Given the description of an element on the screen output the (x, y) to click on. 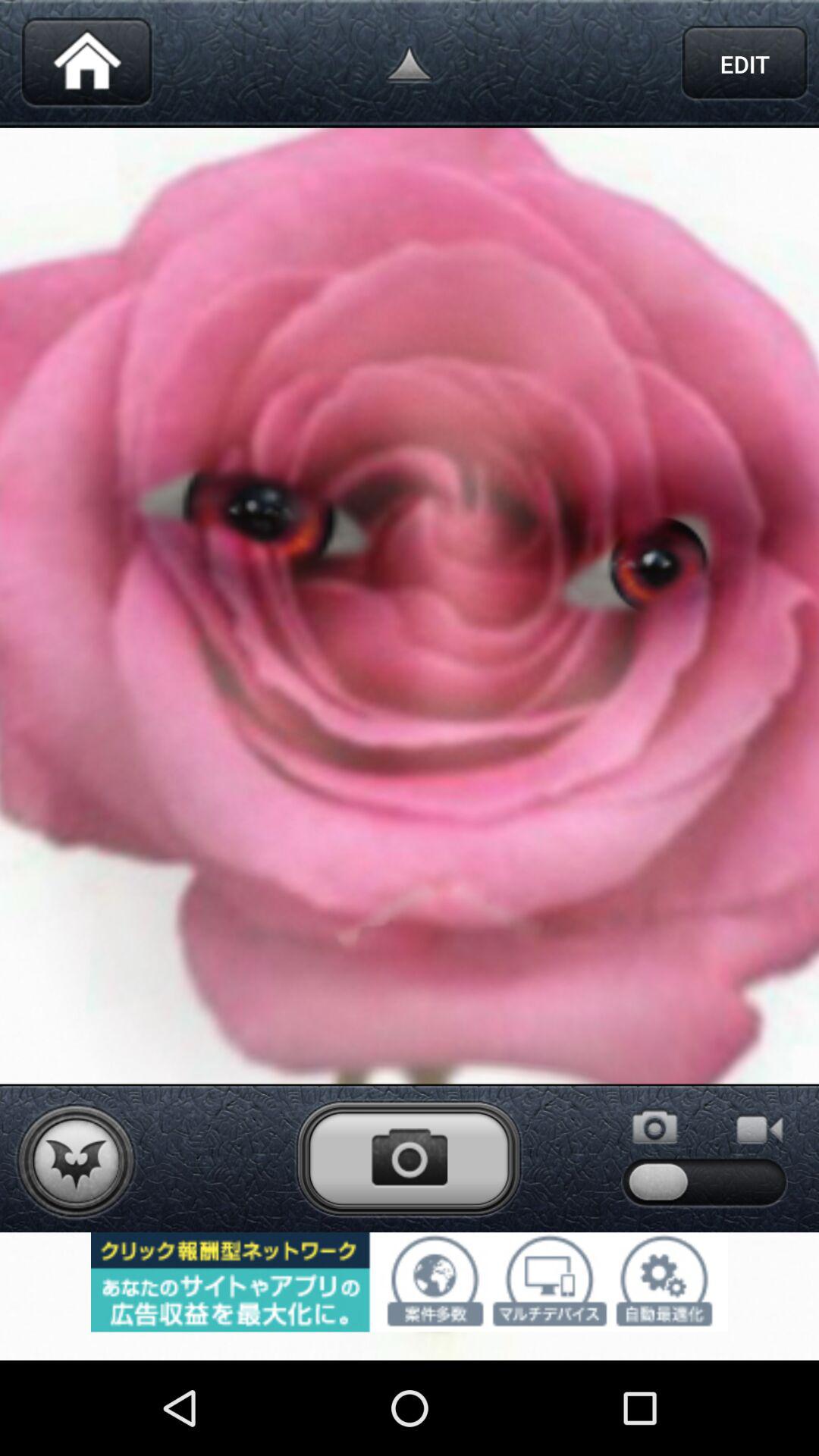
go home (86, 63)
